Given the description of an element on the screen output the (x, y) to click on. 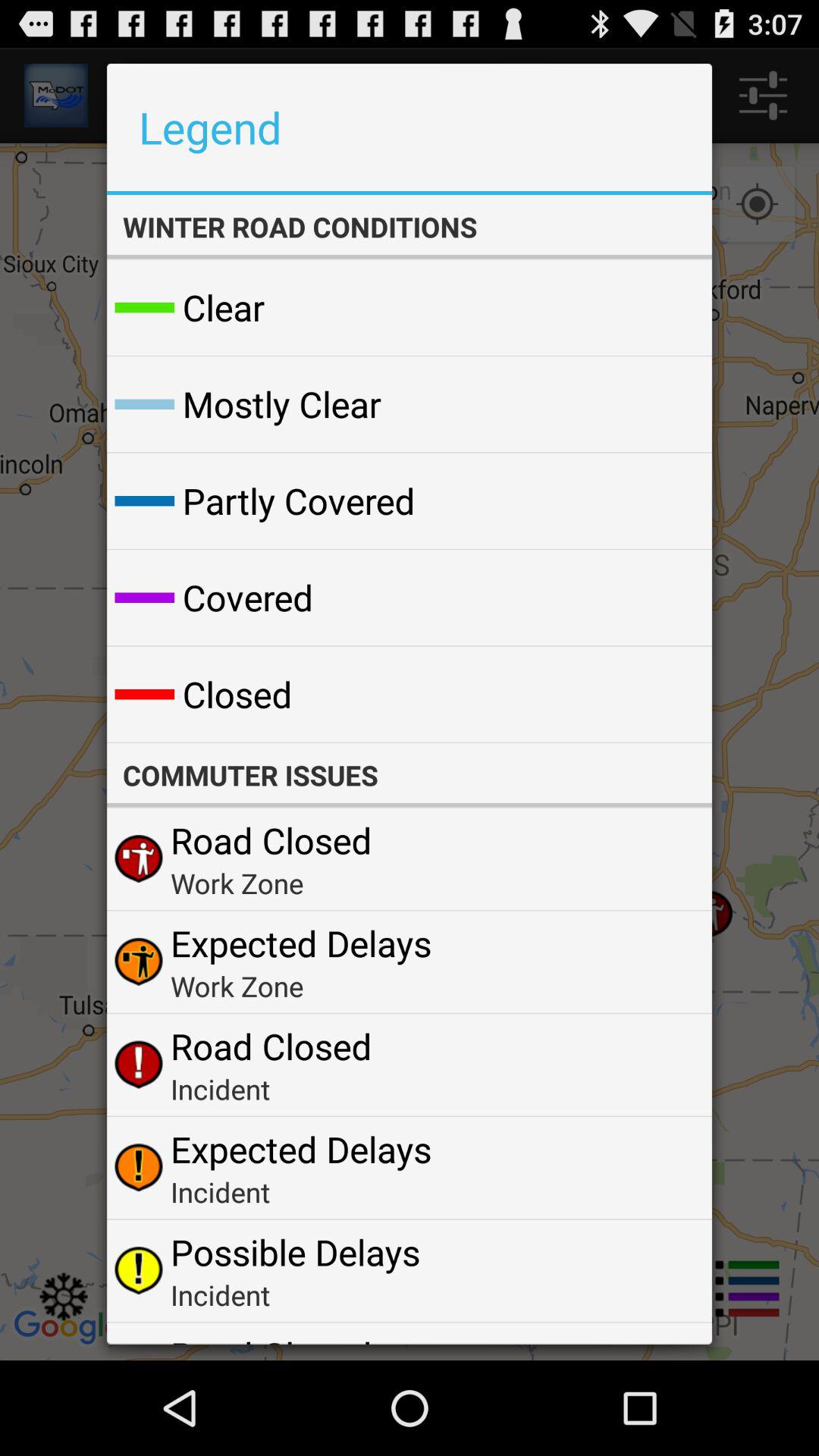
jump to the commuter issues app (409, 775)
